Given the description of an element on the screen output the (x, y) to click on. 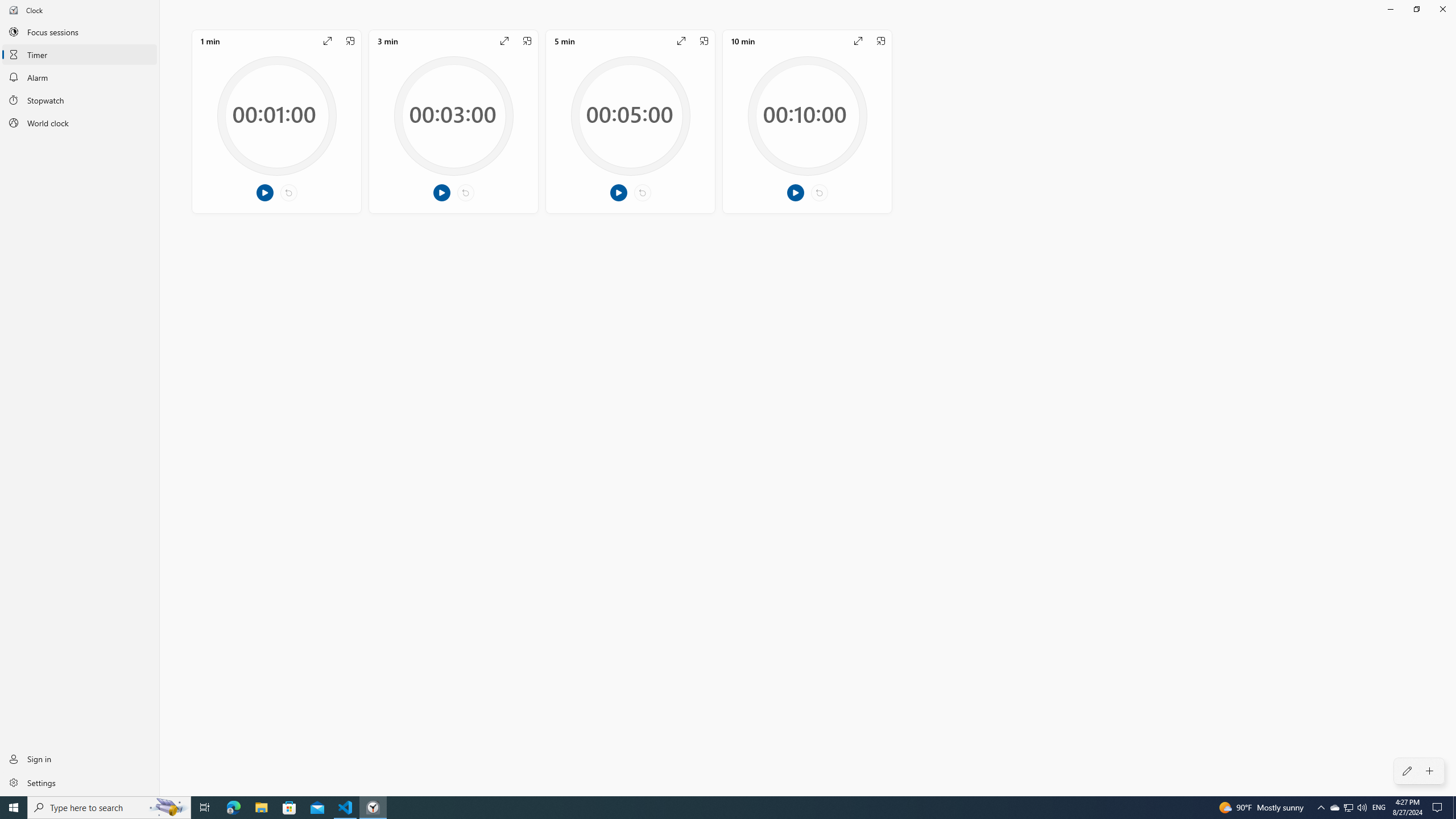
Timer (79, 54)
Keep on top (880, 40)
Settings (79, 782)
Expand (857, 40)
Restore Clock (1416, 9)
Close Clock (1442, 9)
Sign in (79, 758)
Edit timer (1407, 770)
